Given the description of an element on the screen output the (x, y) to click on. 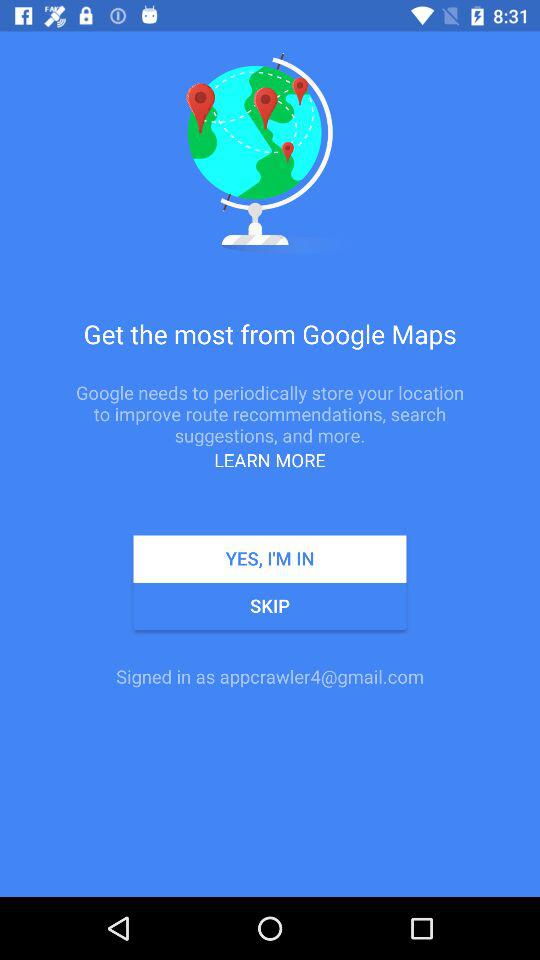
tap button above skip icon (269, 558)
